Given the description of an element on the screen output the (x, y) to click on. 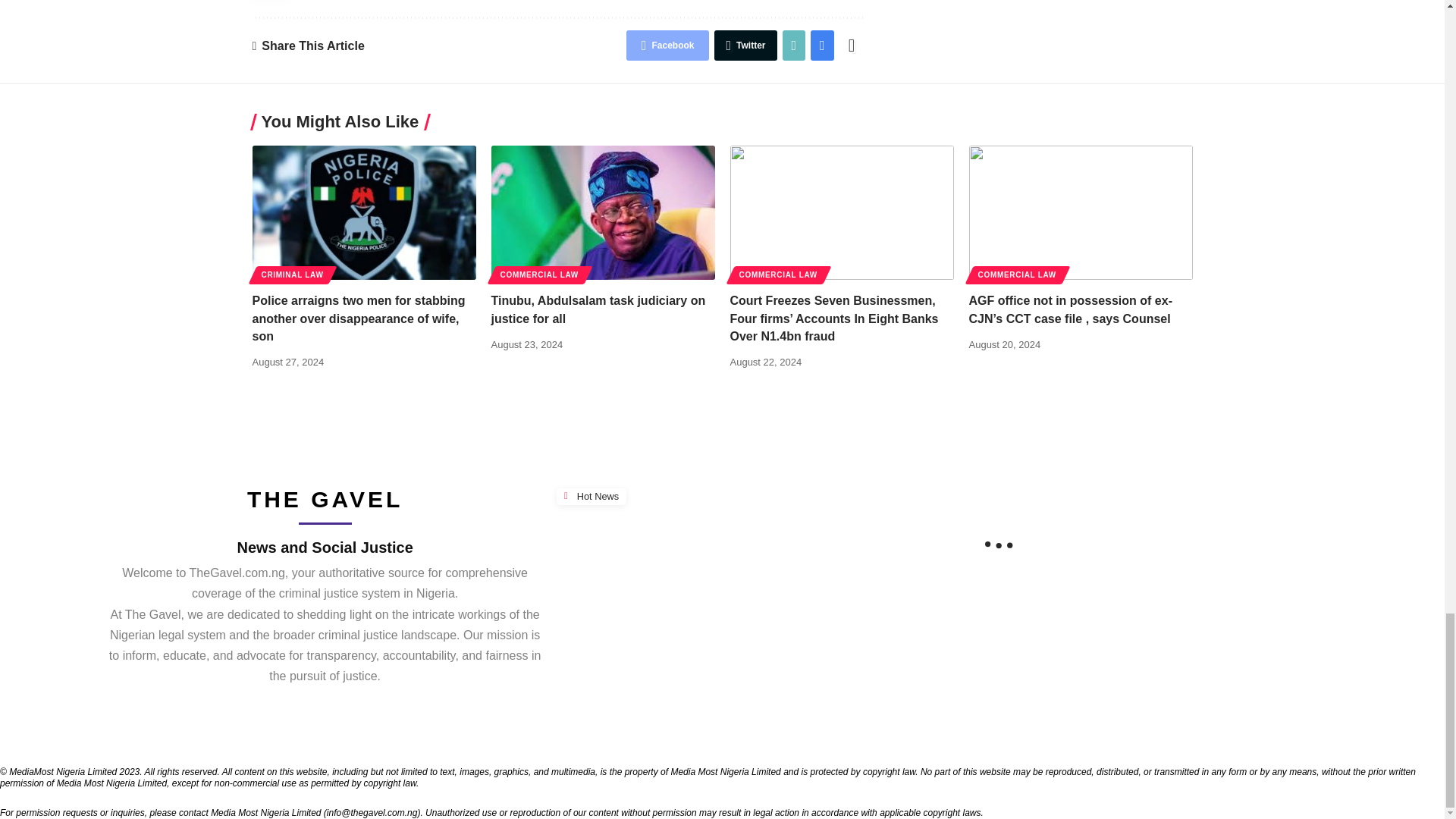
Twitter (745, 45)
Tinubu, Abdulsalam task judiciary on justice for all (603, 212)
Facebook (668, 45)
